Given the description of an element on the screen output the (x, y) to click on. 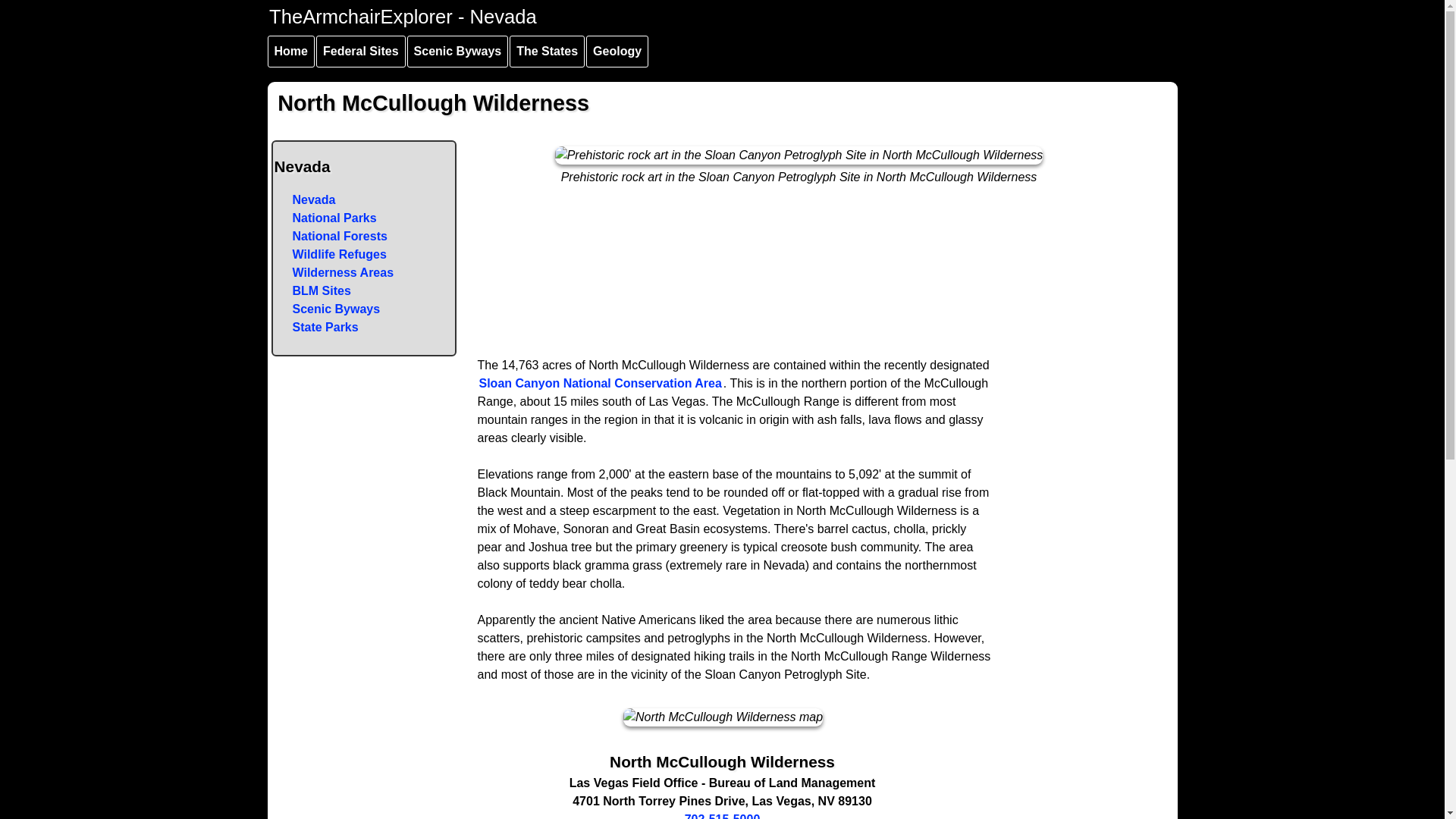
Federal Sites (360, 51)
Scenic Byways (457, 51)
The States (547, 51)
Skip to main navigation (298, 2)
Skip to main content (290, 2)
Home (290, 51)
